Given the description of an element on the screen output the (x, y) to click on. 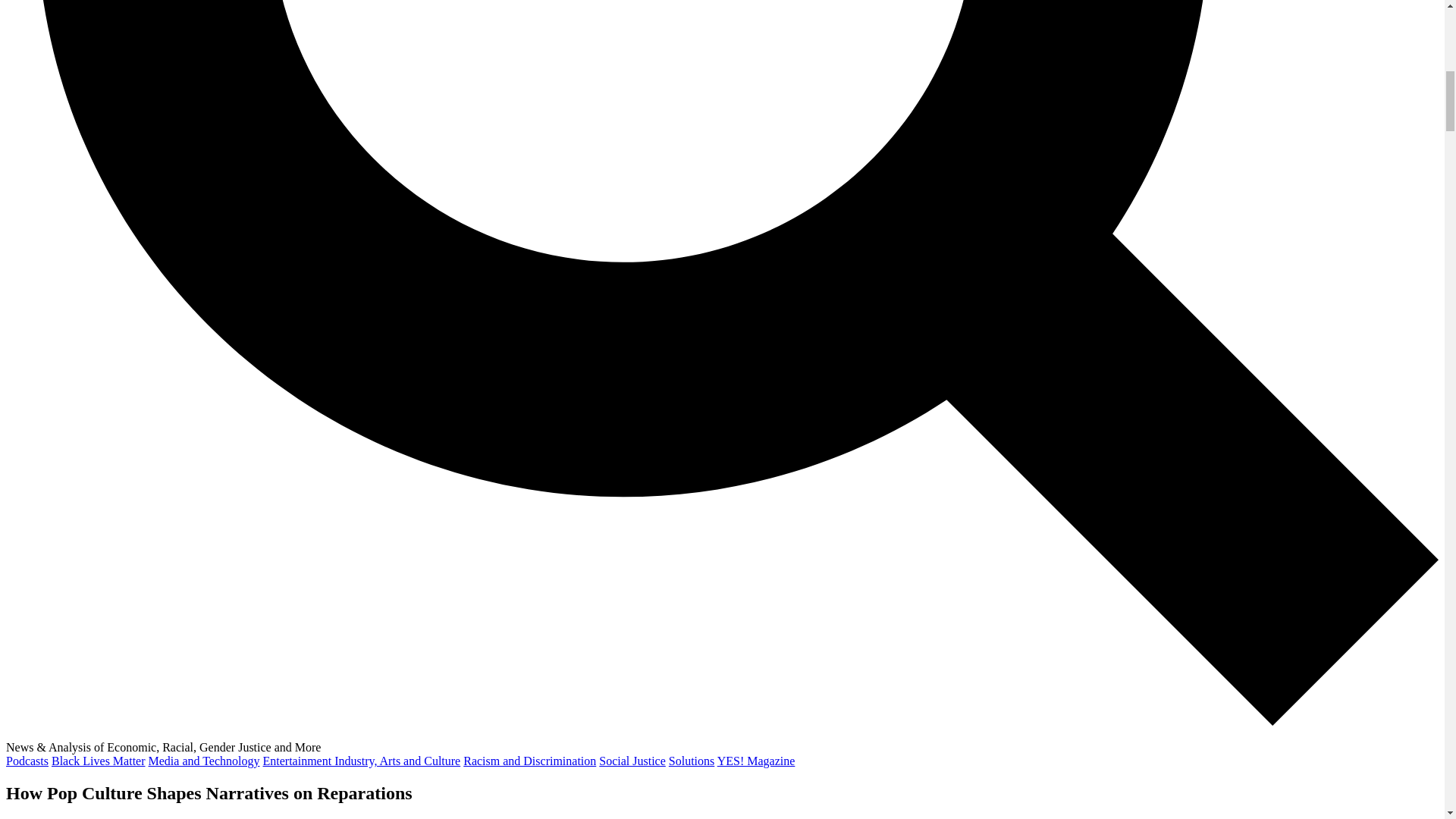
Racism and Discrimination (529, 760)
Entertainment Industry, Arts and Culture (362, 760)
YES! Magazine (755, 760)
Black Lives Matter (97, 760)
Social Justice (631, 760)
Podcasts (26, 760)
Media and Technology (204, 760)
Solutions (691, 760)
